Given the description of an element on the screen output the (x, y) to click on. 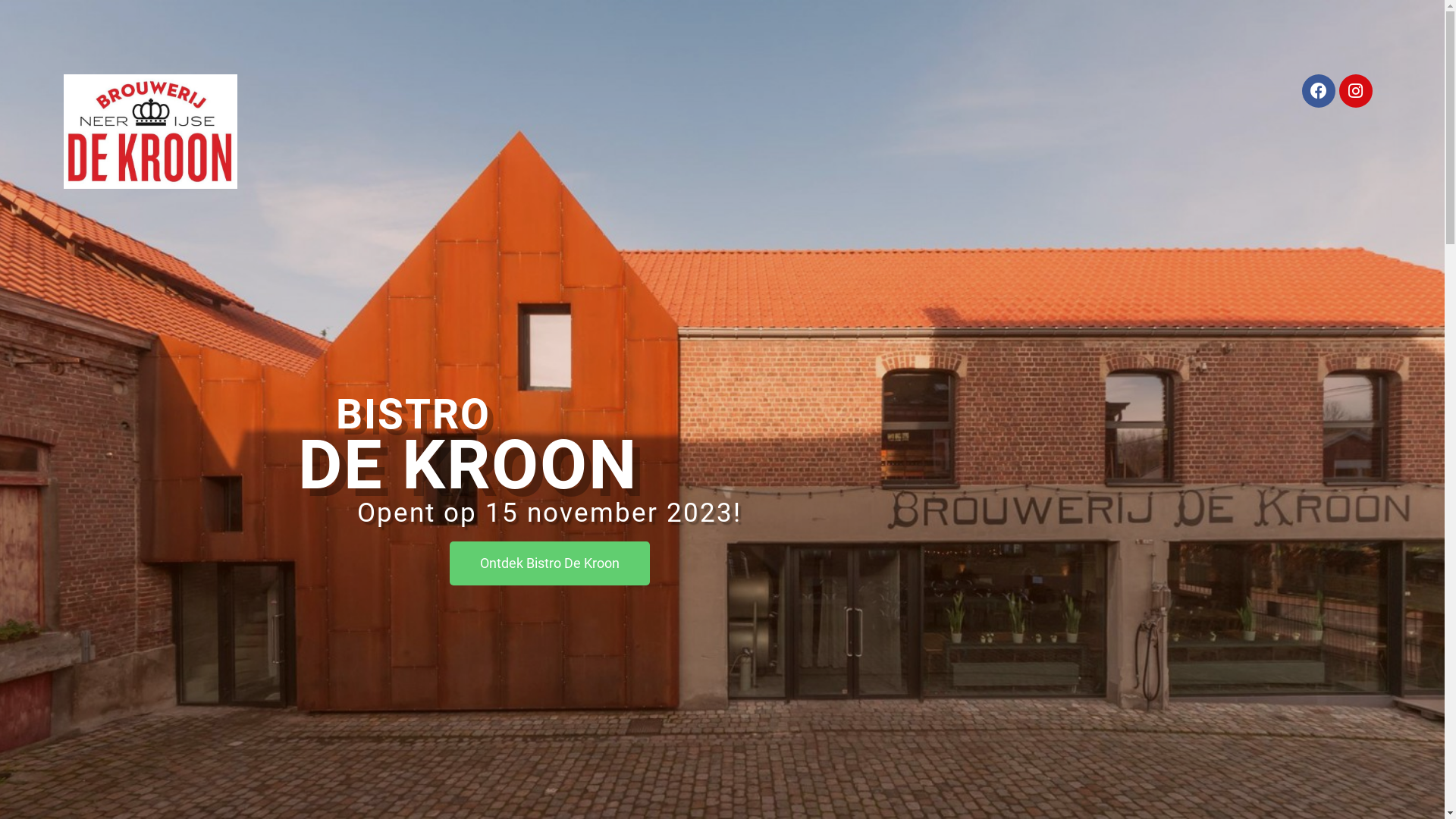
Ontdek Bistro De Kroon Element type: text (548, 563)
